Given the description of an element on the screen output the (x, y) to click on. 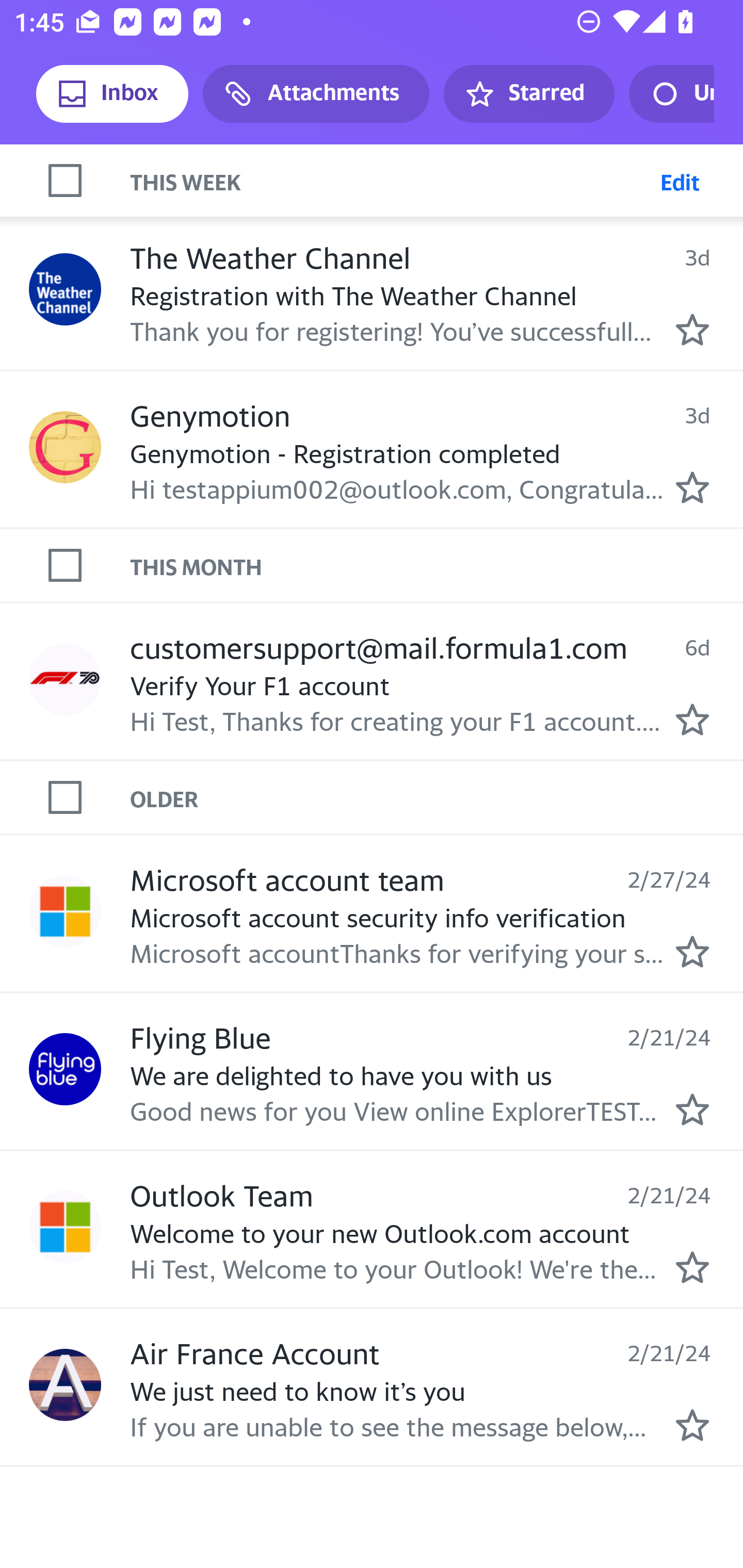
Attachments (315, 93)
Starred (528, 93)
Profile
The Weather Channel (64, 290)
Mark as starred. (692, 330)
Profile
Genymotion (64, 446)
Mark as starred. (692, 486)
THIS MONTH (436, 565)
Profile
customersupport@mail.formula1.com (64, 678)
Mark as starred. (692, 718)
OLDER (436, 797)
Profile
Microsoft account team (64, 910)
Mark as starred. (692, 950)
Profile
Flying Blue (64, 1069)
Mark as starred. (692, 1109)
Profile
Outlook Team (64, 1227)
Mark as starred. (692, 1267)
Profile
Air France Account (64, 1384)
Mark as starred. (692, 1424)
